Given the description of an element on the screen output the (x, y) to click on. 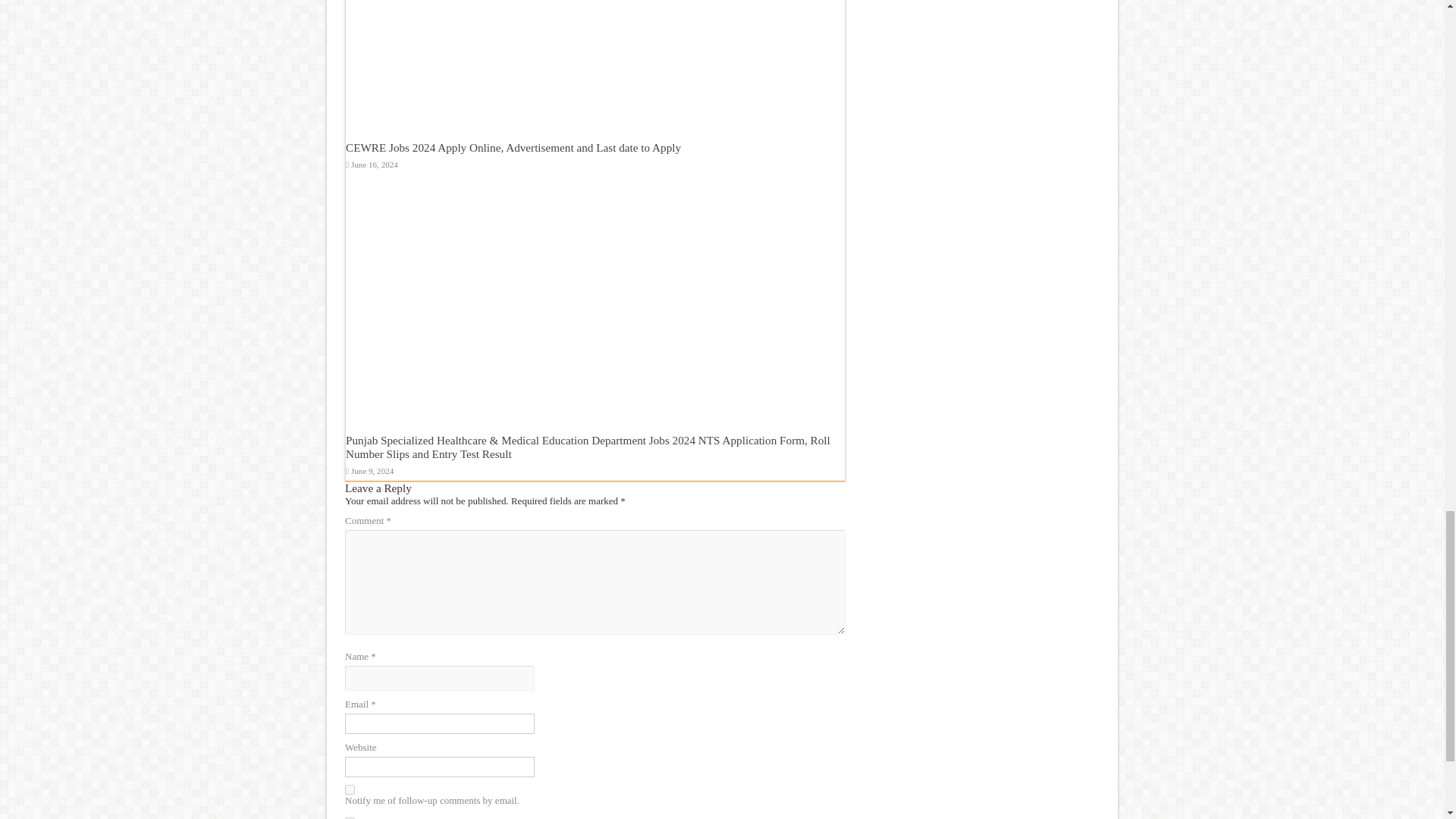
subscribe (350, 789)
